Given the description of an element on the screen output the (x, y) to click on. 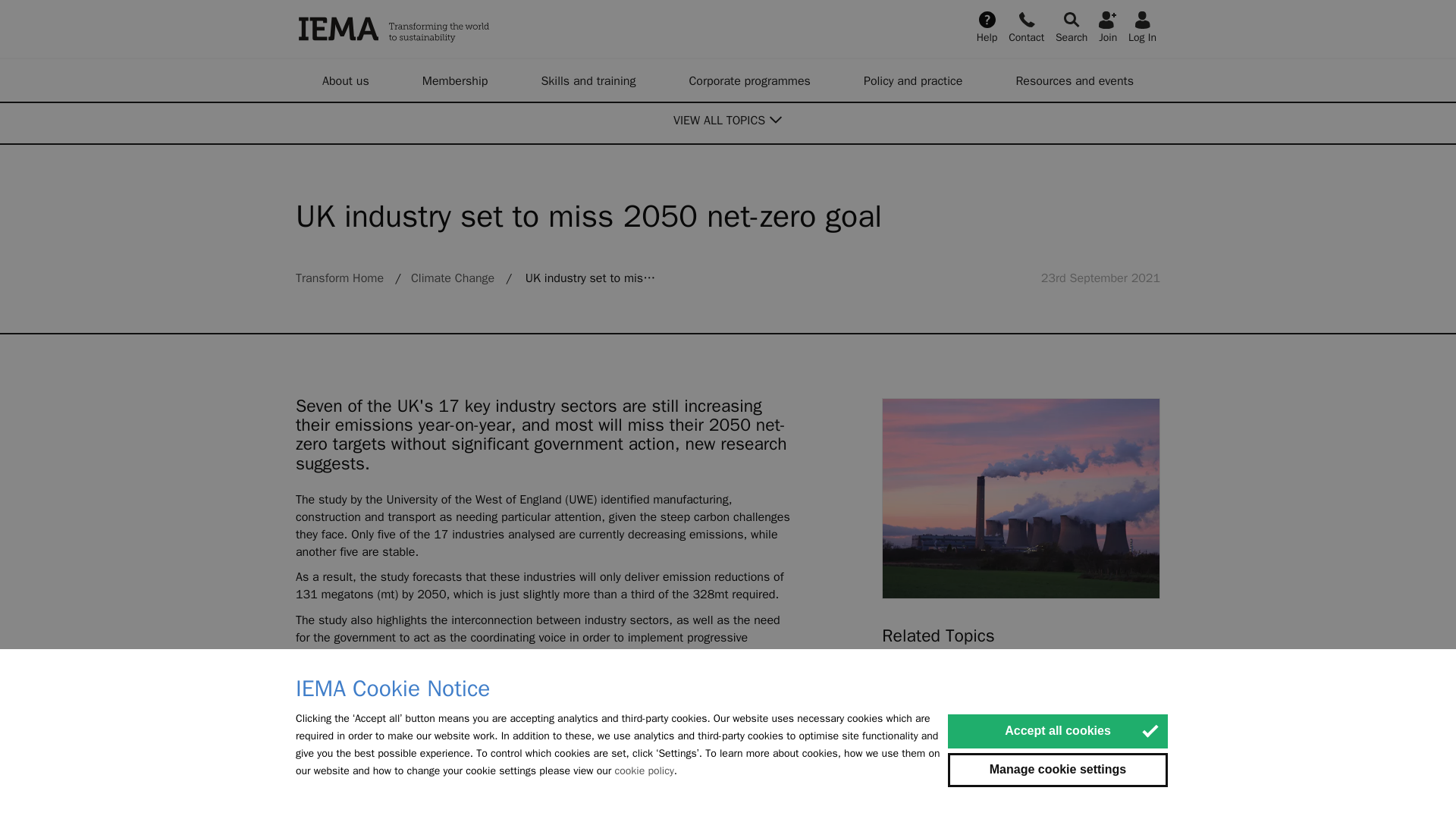
Membership (455, 79)
IEMA (470, 28)
Contact (1026, 26)
About us (345, 79)
